Given the description of an element on the screen output the (x, y) to click on. 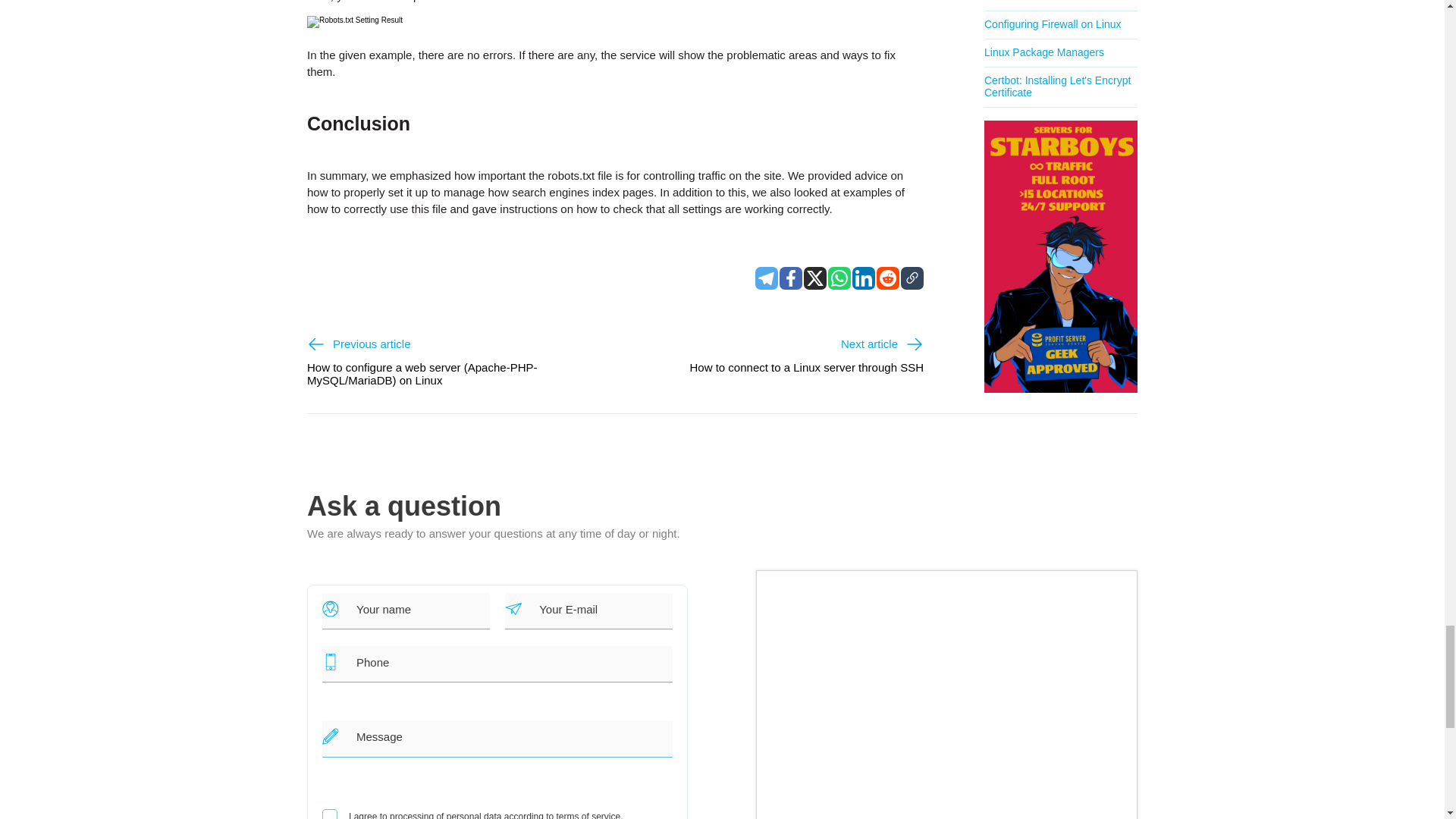
LinkedIn (863, 277)
Facebook (790, 277)
reddit (887, 277)
Copy link (912, 277)
Telegram (766, 277)
WhatsApp (839, 277)
